Given the description of an element on the screen output the (x, y) to click on. 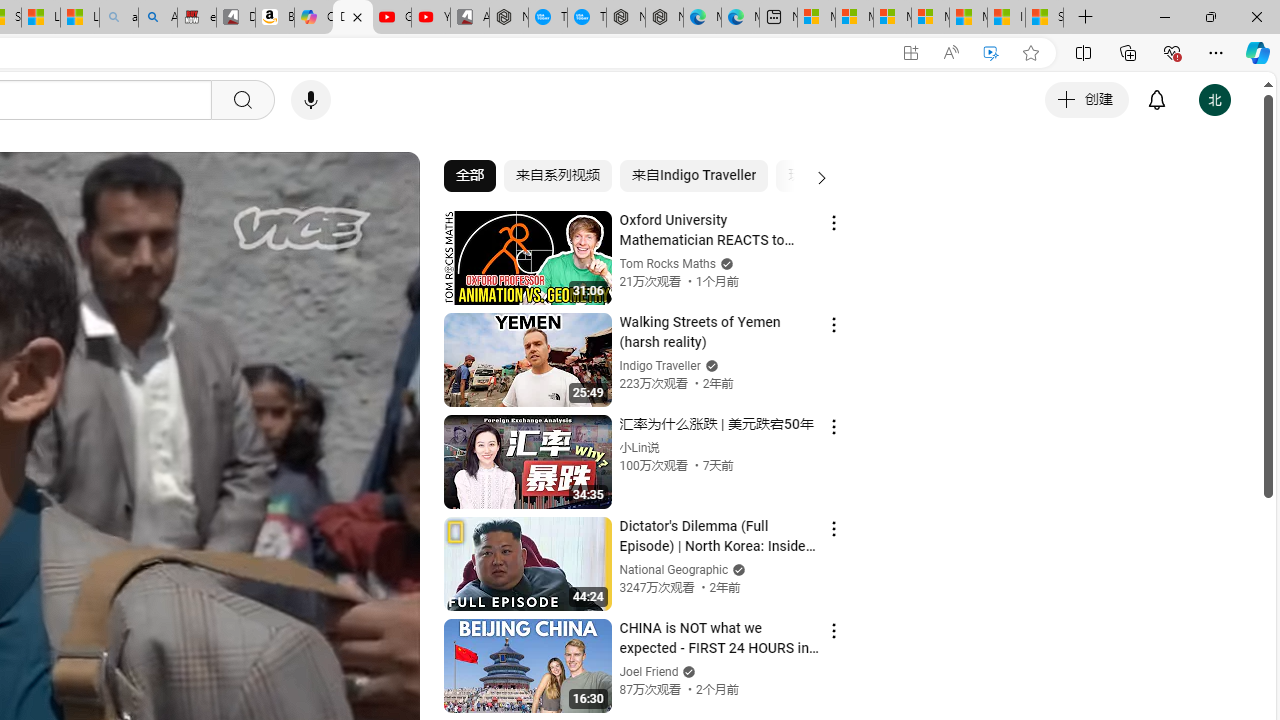
The most popular Google 'how to' searches (586, 17)
amazon - Search - Sleeping (118, 17)
Gloom - YouTube (391, 17)
Nordace - My Account (509, 17)
App available. Install YouTube (910, 53)
